Given the description of an element on the screen output the (x, y) to click on. 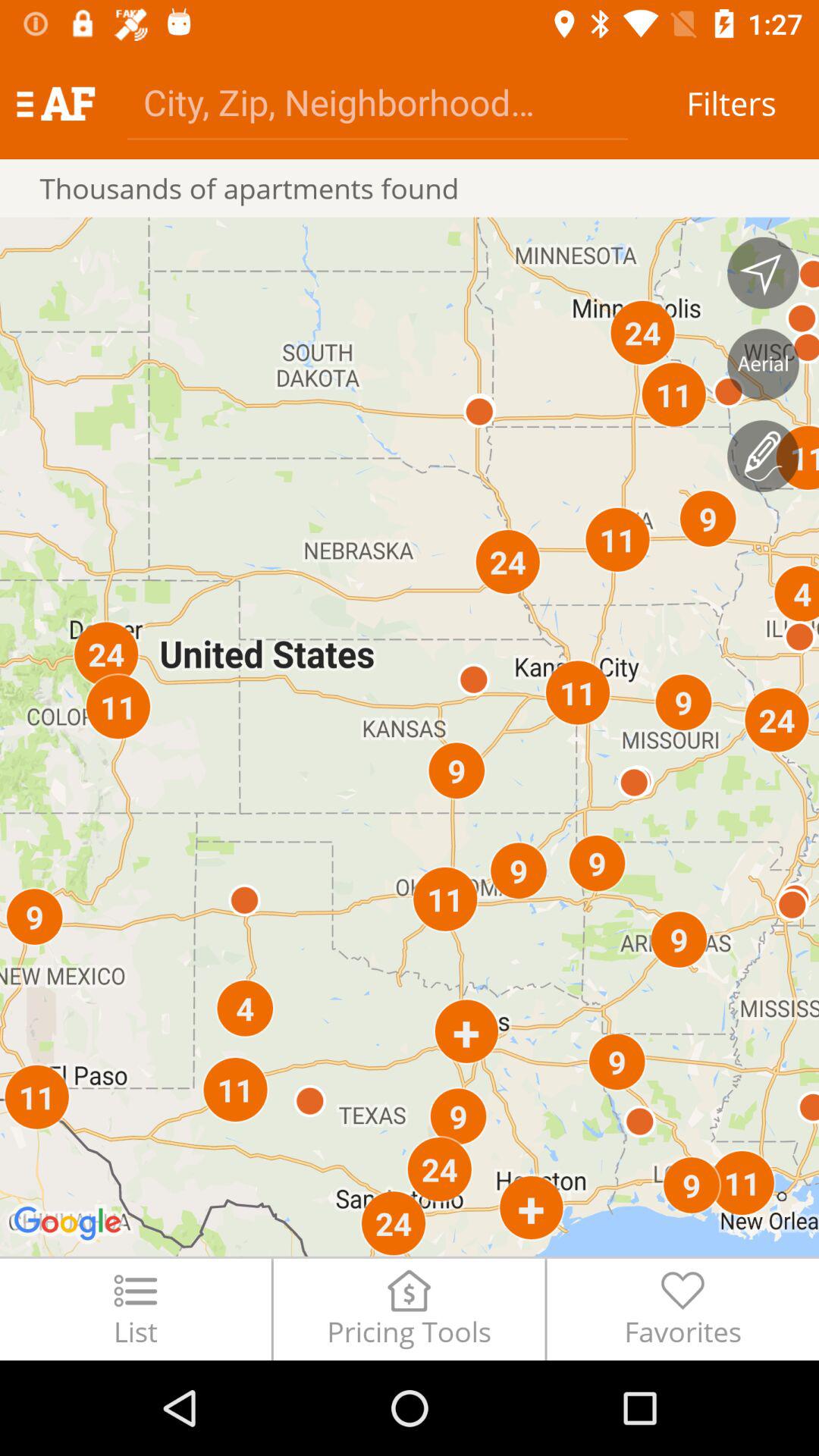
tap the item to the right of the list (408, 1309)
